Given the description of an element on the screen output the (x, y) to click on. 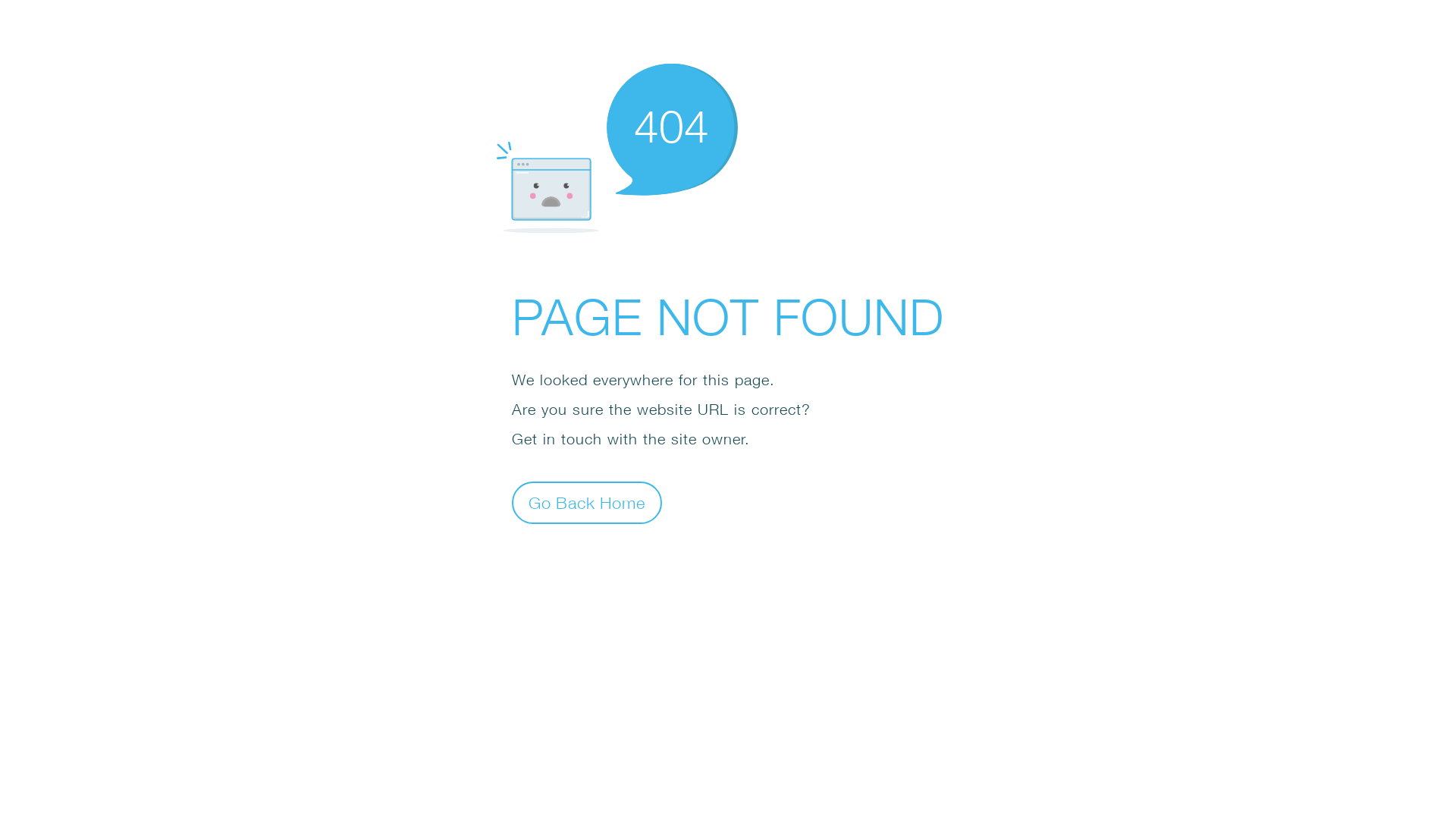
Go Back Home Element type: text (586, 502)
